Given the description of an element on the screen output the (x, y) to click on. 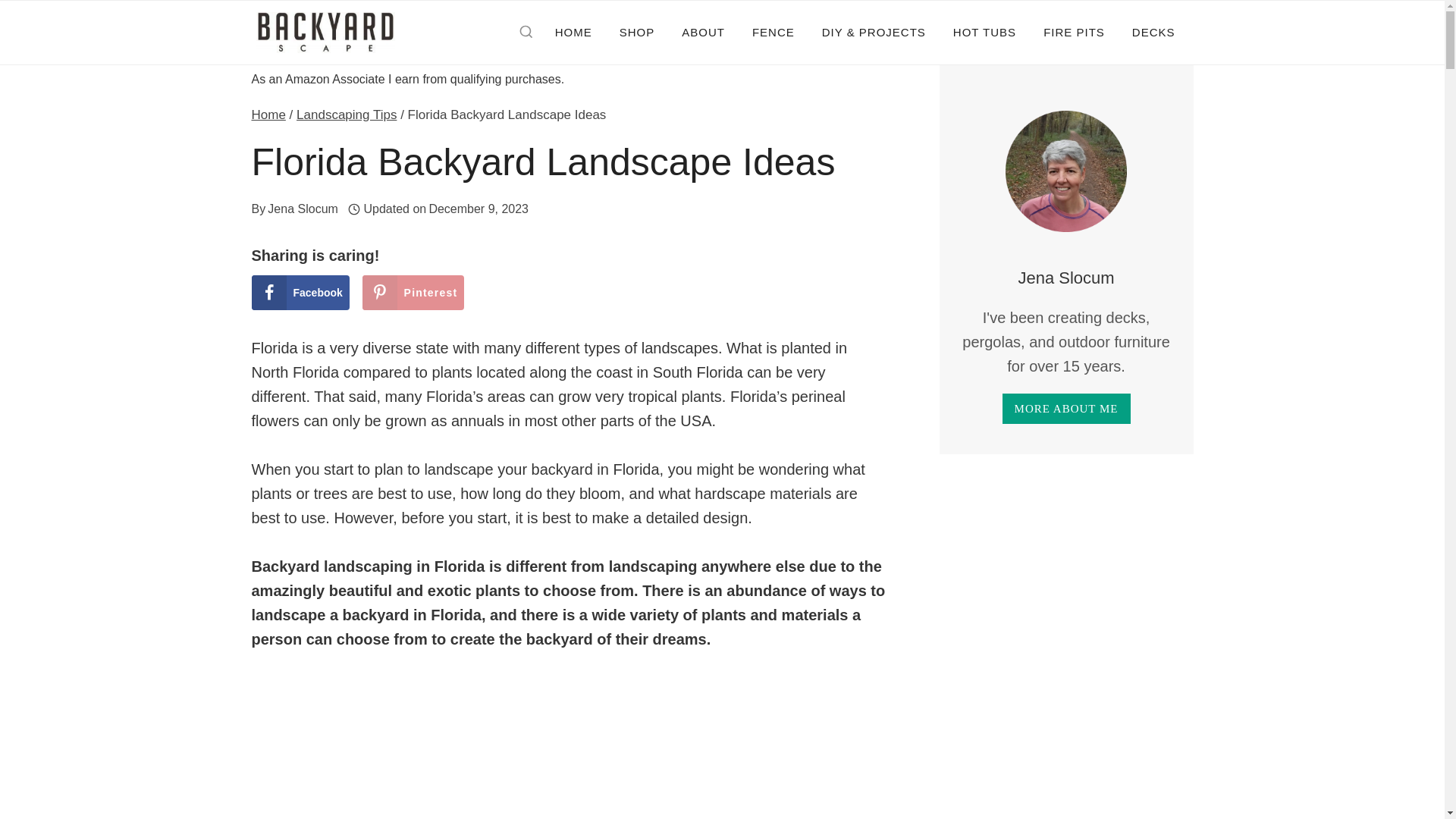
Home (268, 114)
9 Beautiful Florida Backyard Landscape Ideas to Create (568, 747)
FIRE PITS (1073, 32)
Save to Pinterest (413, 292)
Facebook (300, 292)
DECKS (1153, 32)
Landscaping Tips (346, 114)
Jena Slocum (302, 208)
HOME (573, 32)
Share on Facebook (300, 292)
